Given the description of an element on the screen output the (x, y) to click on. 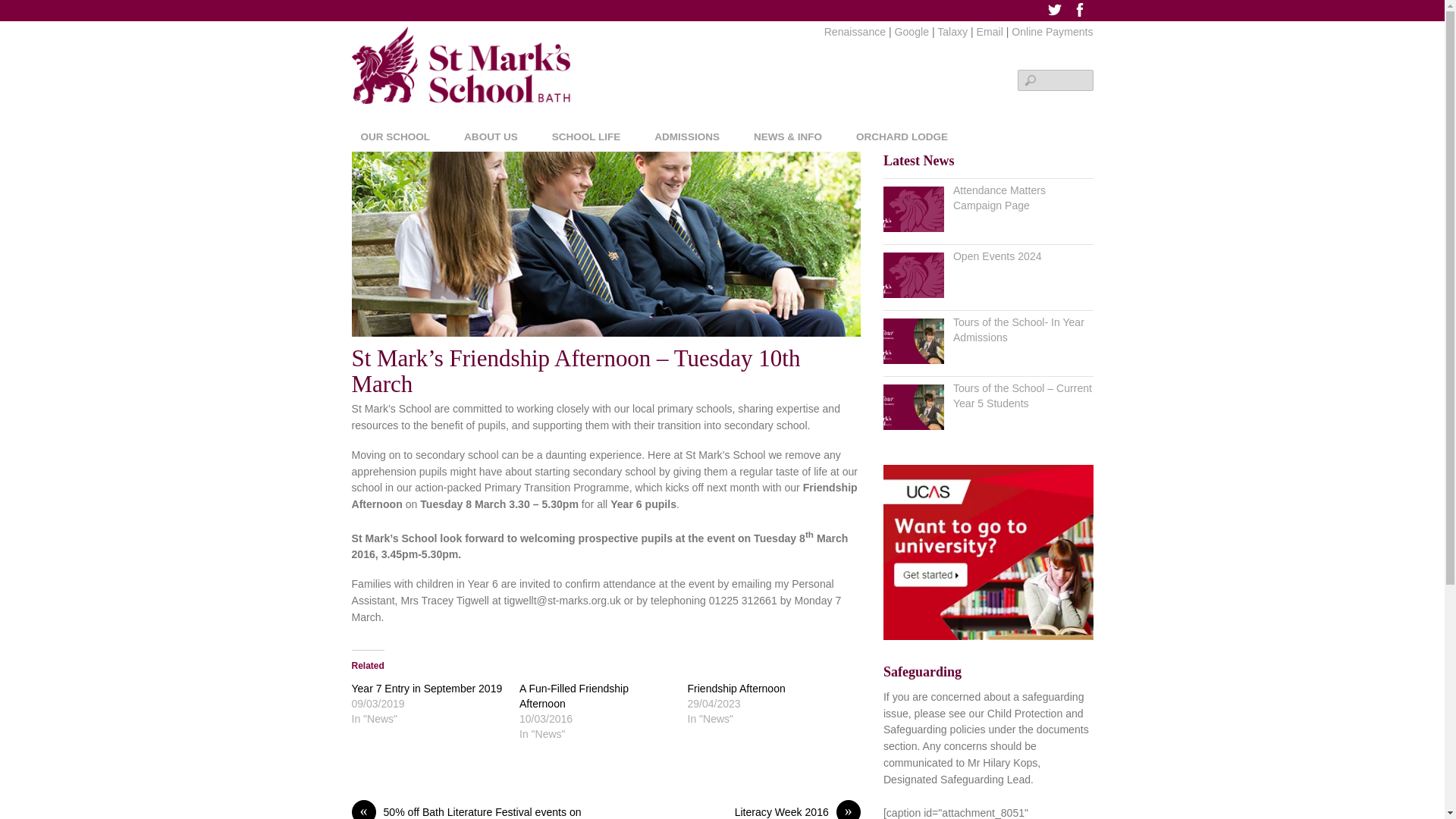
St Mark's School Bath (461, 78)
Renaissance (854, 31)
Online Payments (1052, 31)
ABOUT US (496, 139)
Email (989, 31)
Friendship Afternoon (736, 688)
A Fun-Filled Friendship Afternoon (573, 696)
OUR SCHOOL (402, 139)
Talaxy (952, 31)
Book A School Tour In Year Admission (913, 340)
